Given the description of an element on the screen output the (x, y) to click on. 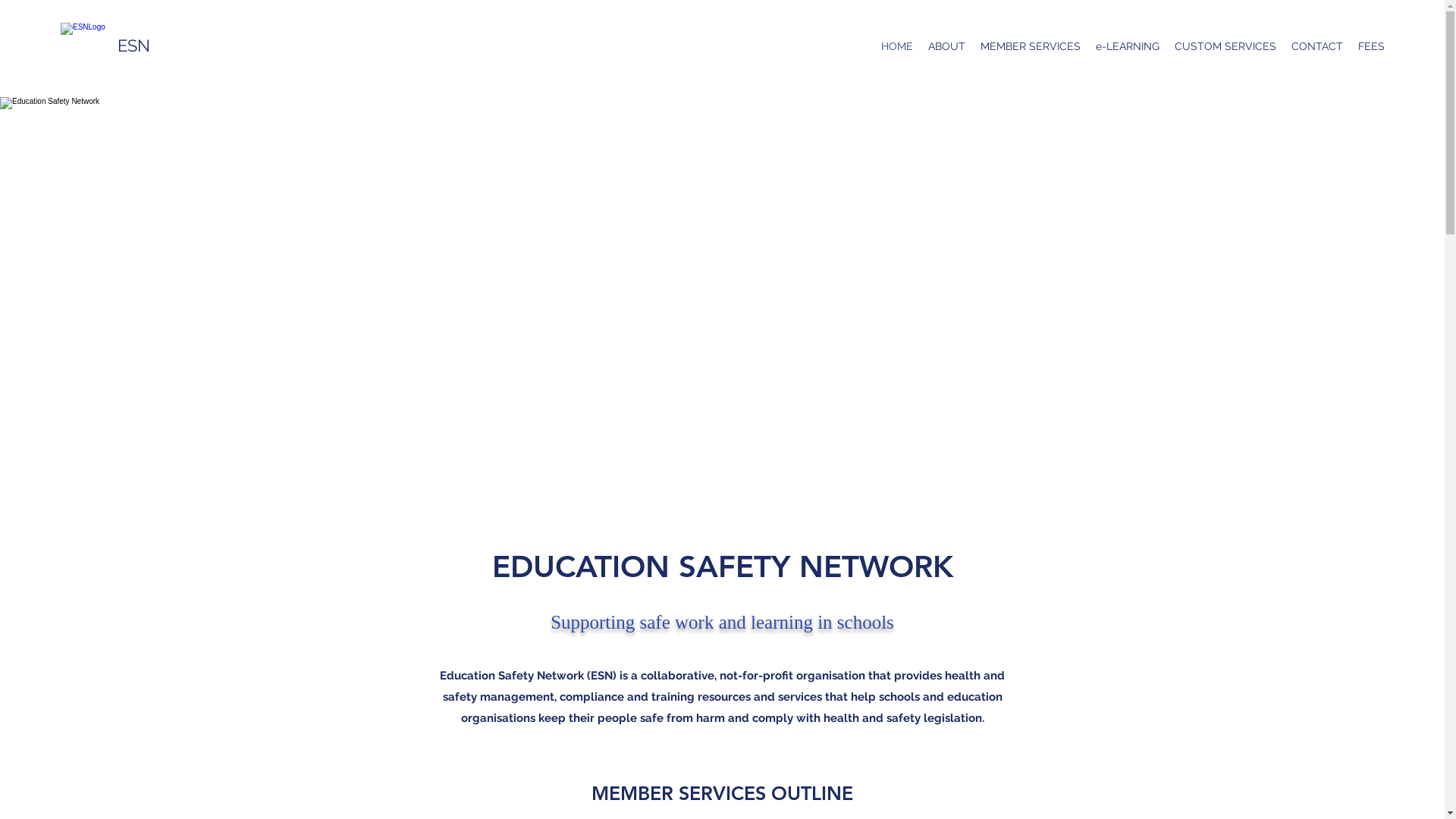
ABOUT Element type: text (946, 45)
FEES Element type: text (1371, 45)
CUSTOM SERVICES Element type: text (1225, 45)
e-LEARNING Element type: text (1127, 45)
HOME Element type: text (896, 45)
CONTACT Element type: text (1316, 45)
MEMBER SERVICES Element type: text (1030, 45)
